Given the description of an element on the screen output the (x, y) to click on. 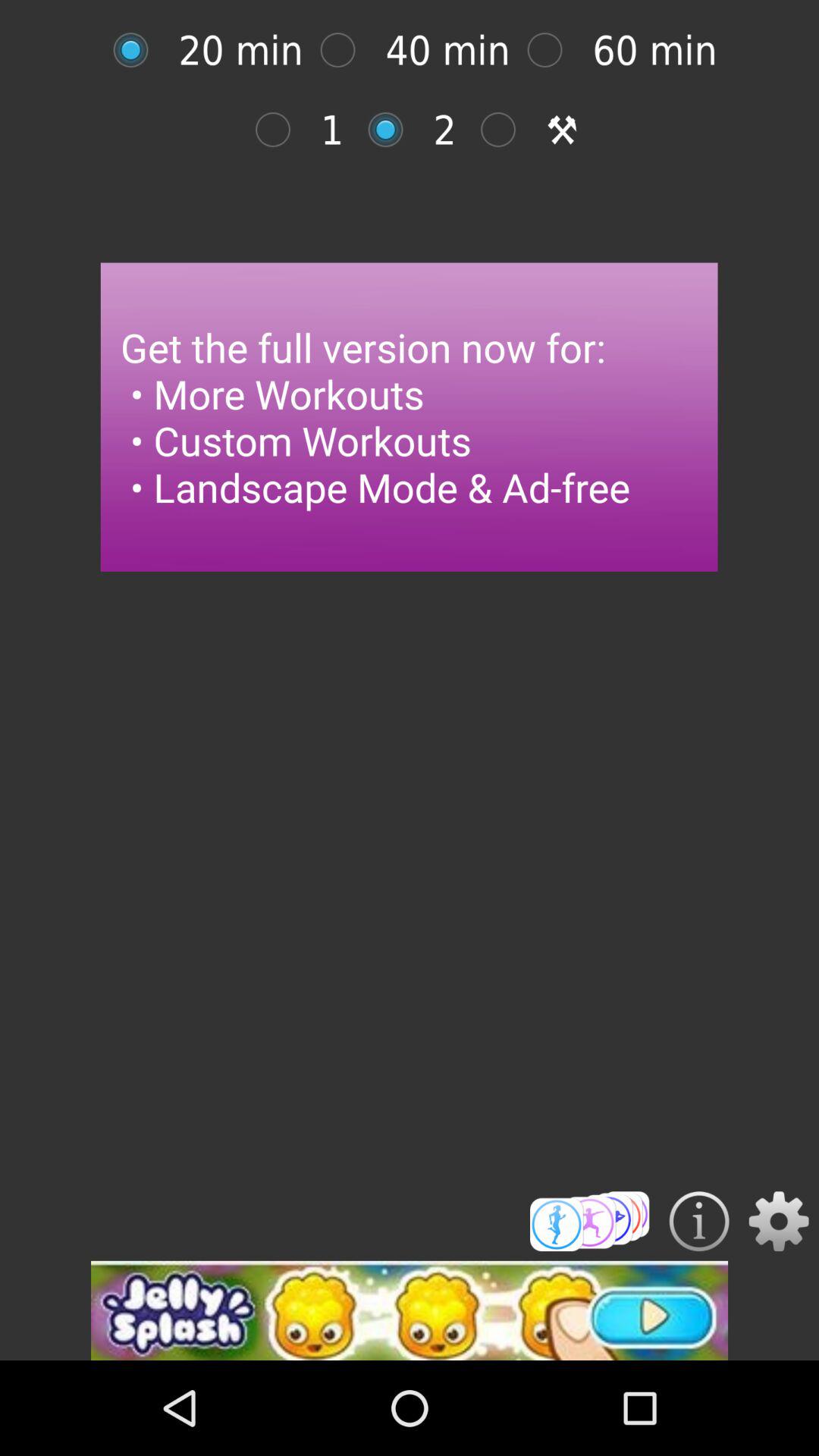
settings button (778, 1221)
